Given the description of an element on the screen output the (x, y) to click on. 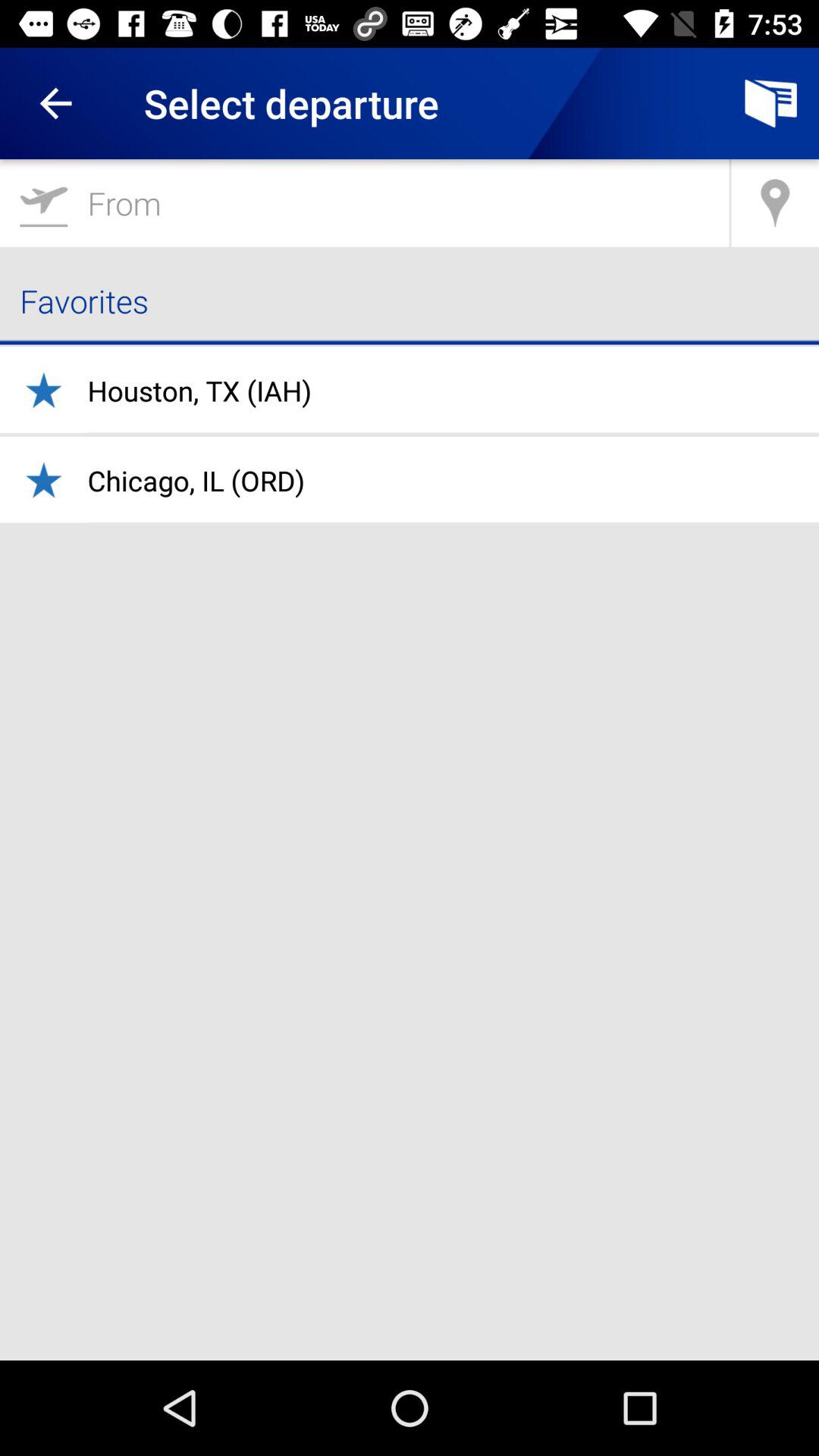
go airplanemode (364, 202)
